Given the description of an element on the screen output the (x, y) to click on. 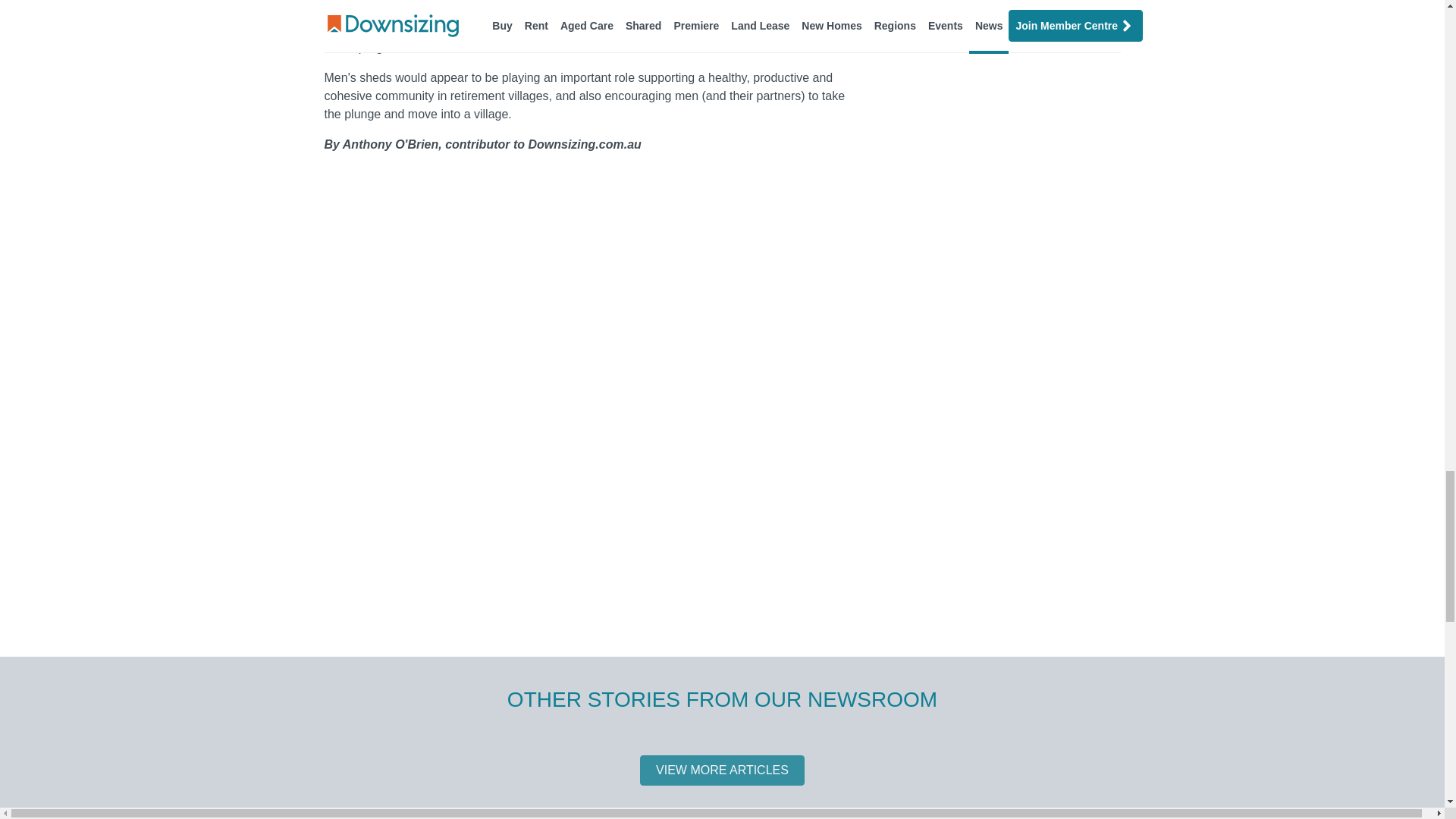
2018 Retirement Living Census found that (463, 10)
